Given the description of an element on the screen output the (x, y) to click on. 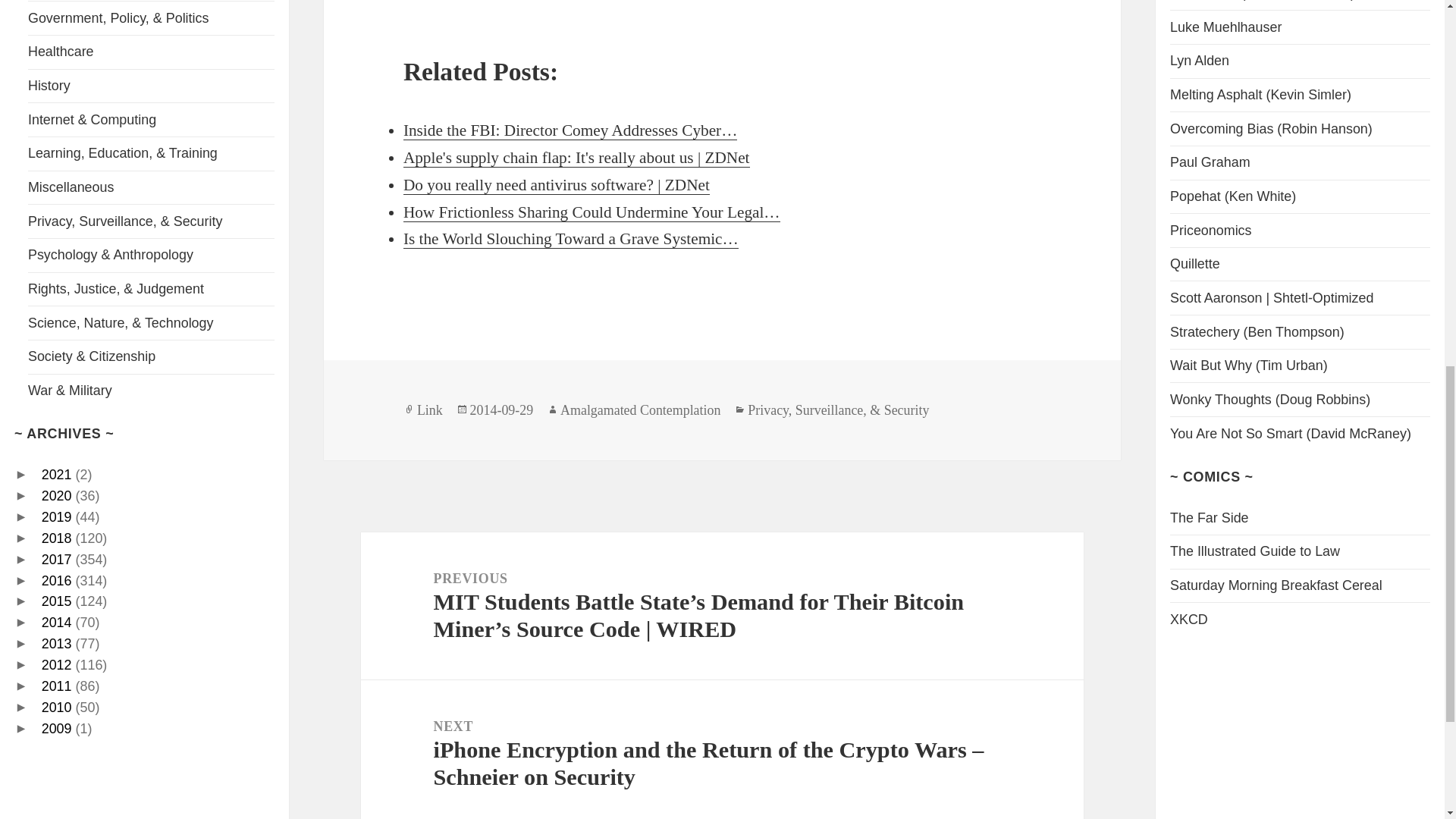
Miscellaneous (70, 186)
Healthcare (60, 51)
History (48, 85)
